Given the description of an element on the screen output the (x, y) to click on. 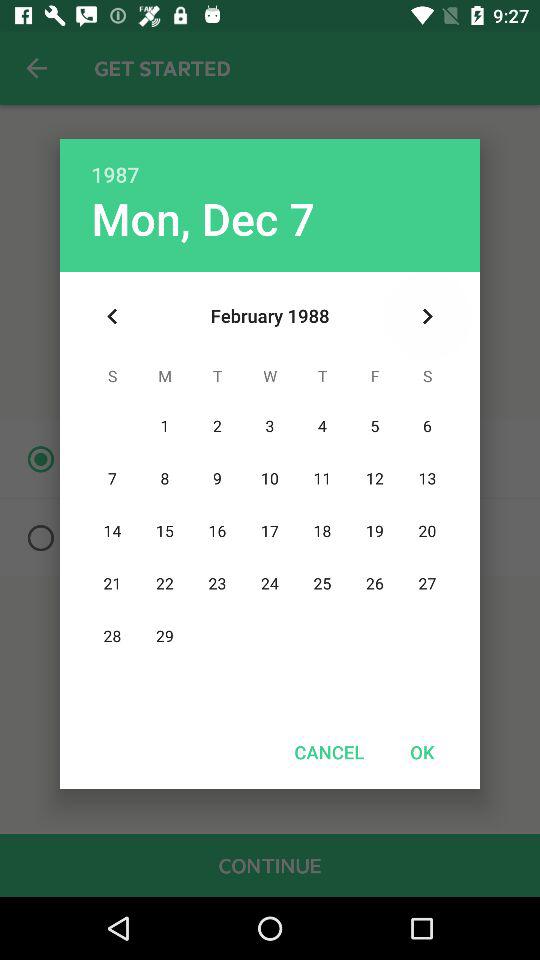
open icon below 1987 item (202, 218)
